Given the description of an element on the screen output the (x, y) to click on. 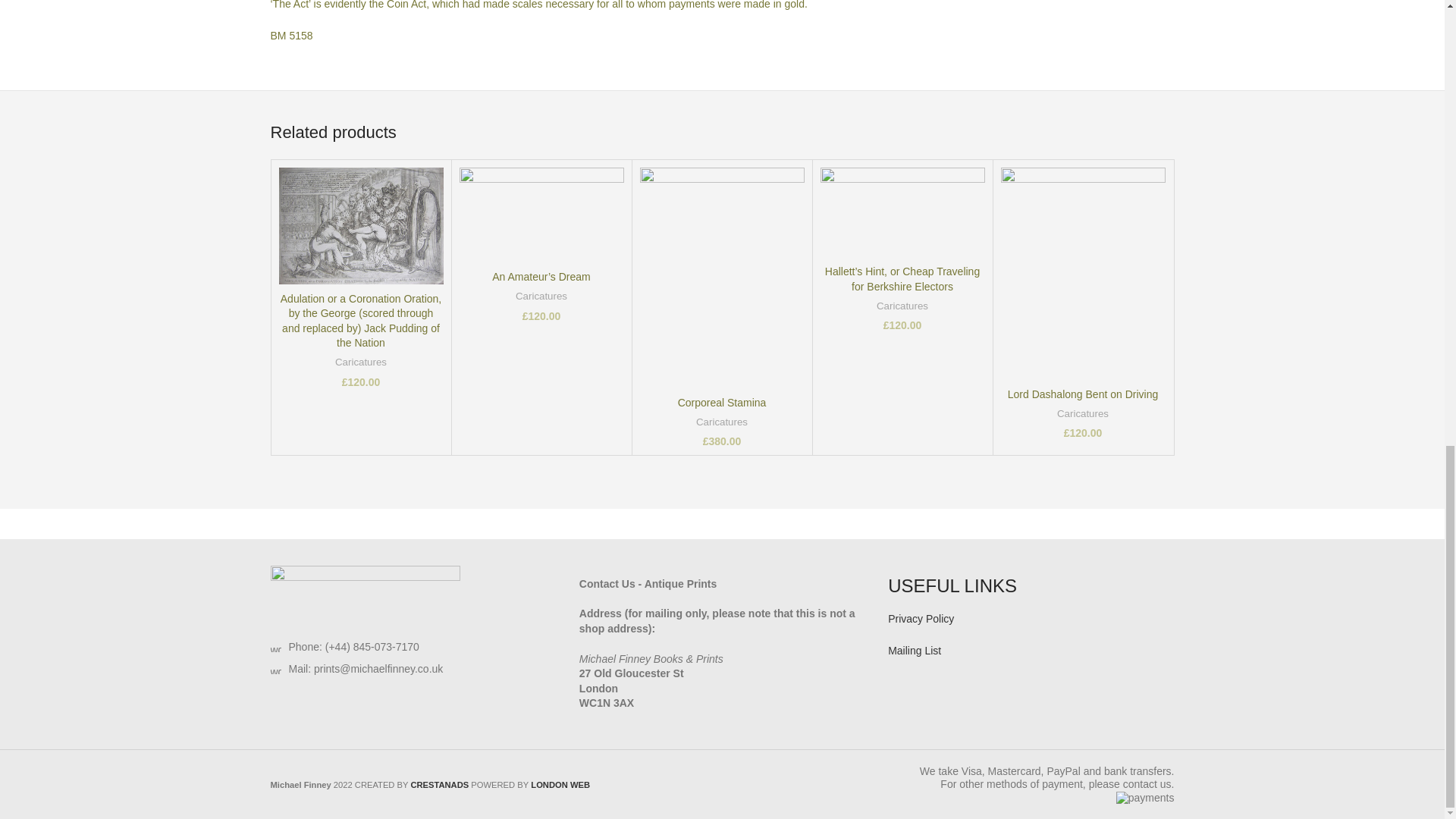
wd-phone-dark (275, 646)
Caricatures (360, 362)
Corporeal Stamina (722, 402)
Caricatures (541, 296)
wd-envelope-dark (275, 668)
